Given the description of an element on the screen output the (x, y) to click on. 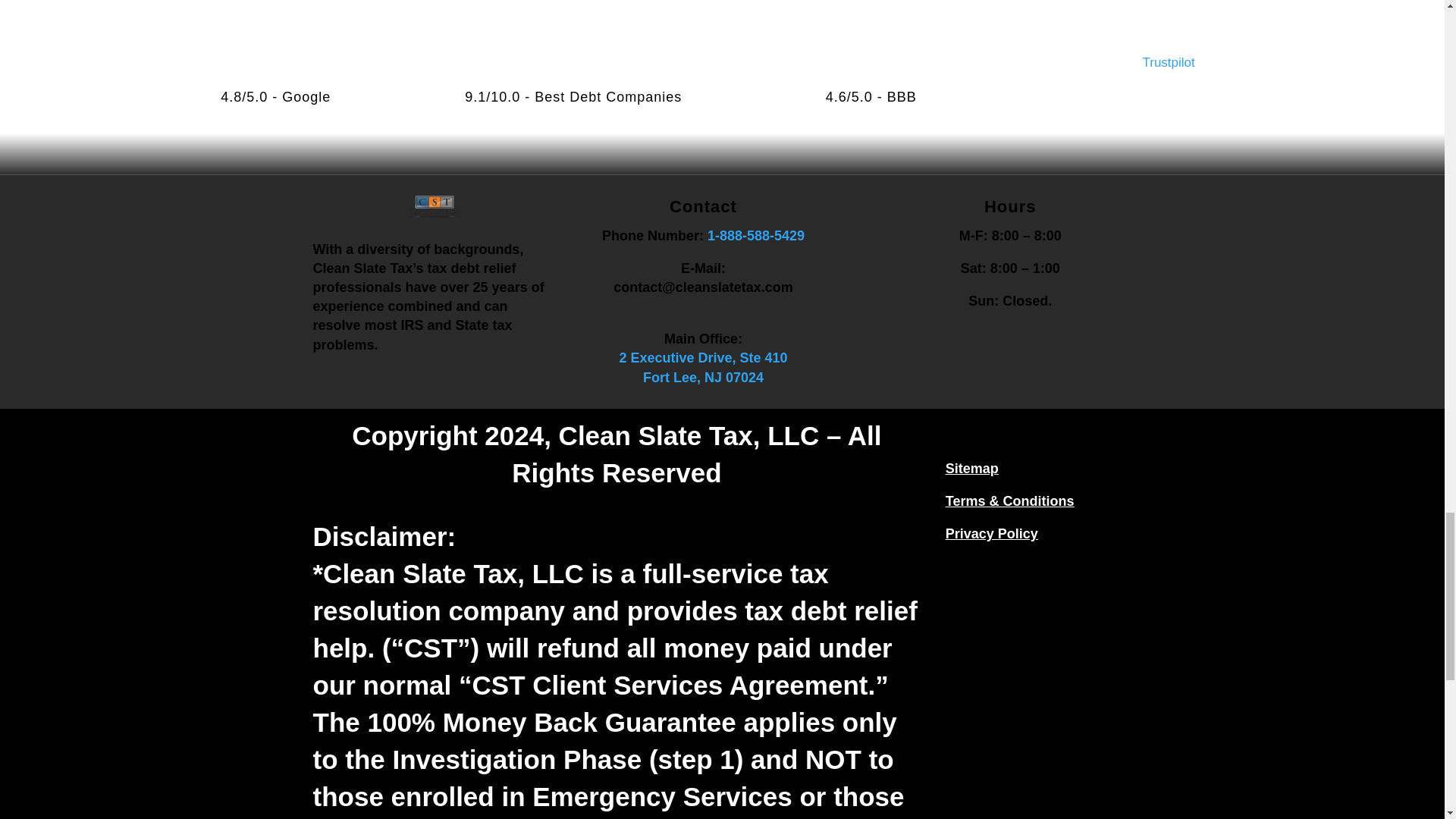
logo-final (434, 213)
Sitemap (971, 468)
Terms and Conditions for CleanSlateTax.com (1009, 500)
Privacy Policy for CleanSlateTax.com (991, 533)
